Given the description of an element on the screen output the (x, y) to click on. 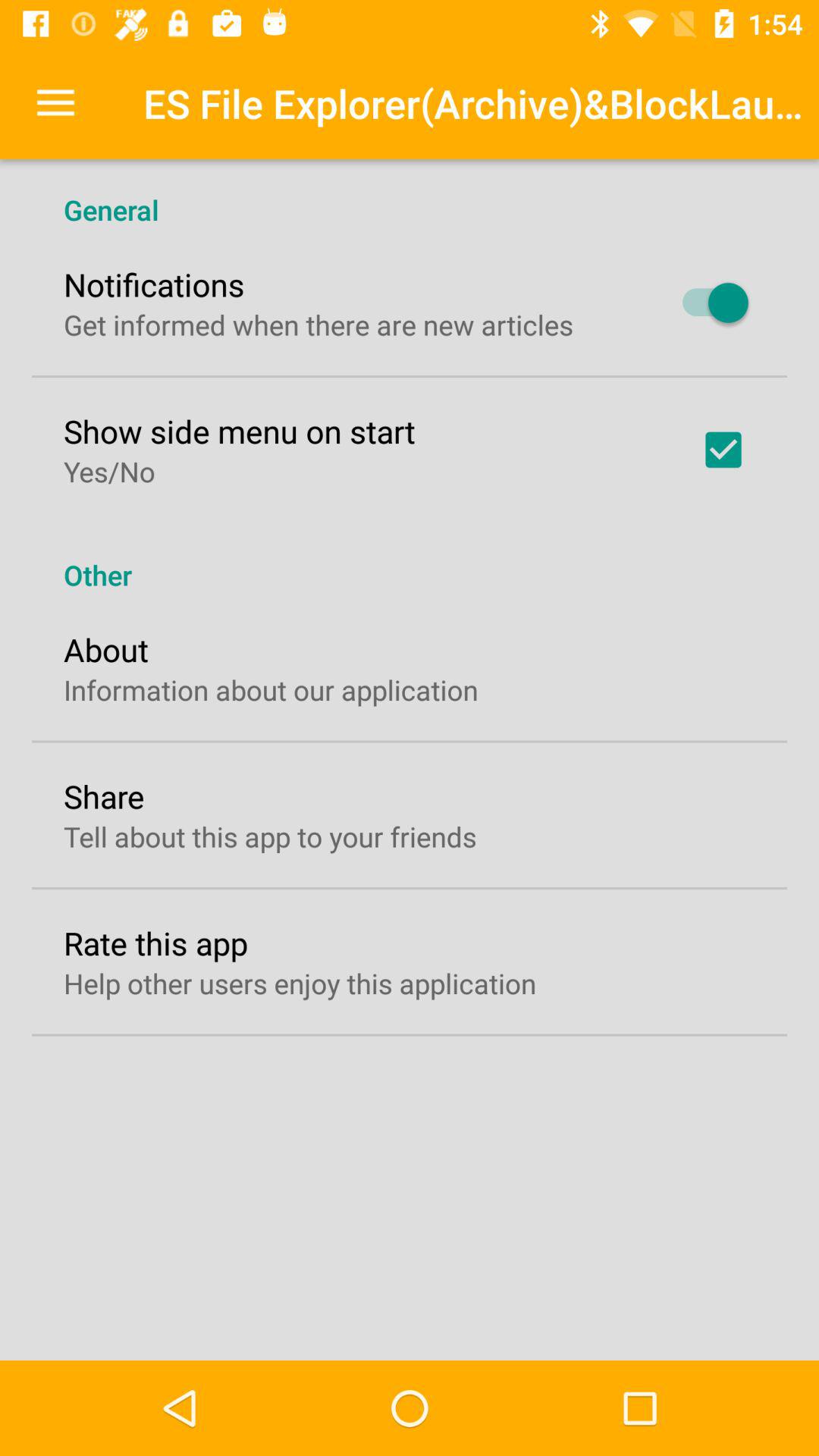
swipe until the notifications (153, 283)
